Given the description of an element on the screen output the (x, y) to click on. 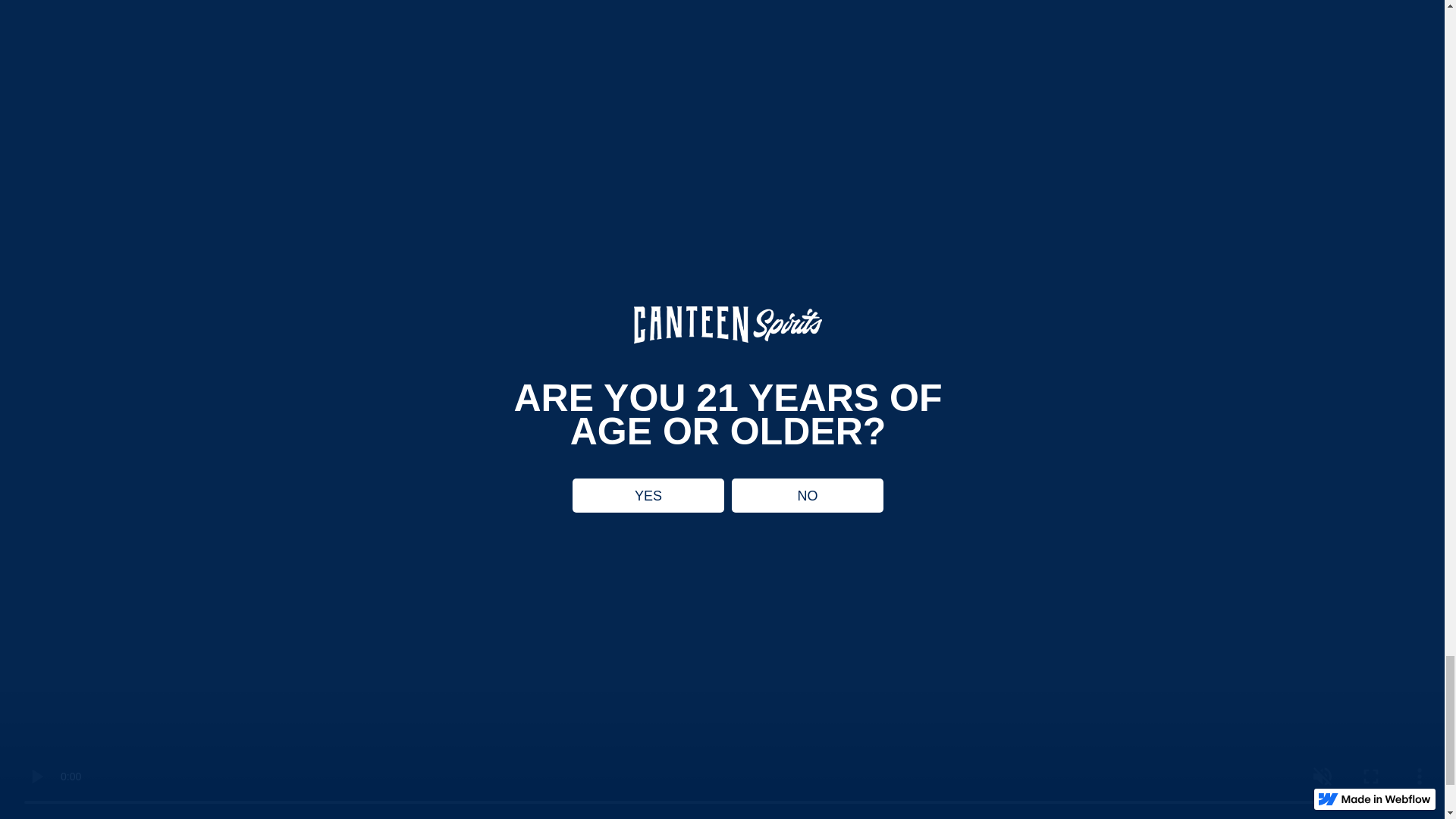
SHOP NOW (147, 816)
